Given the description of an element on the screen output the (x, y) to click on. 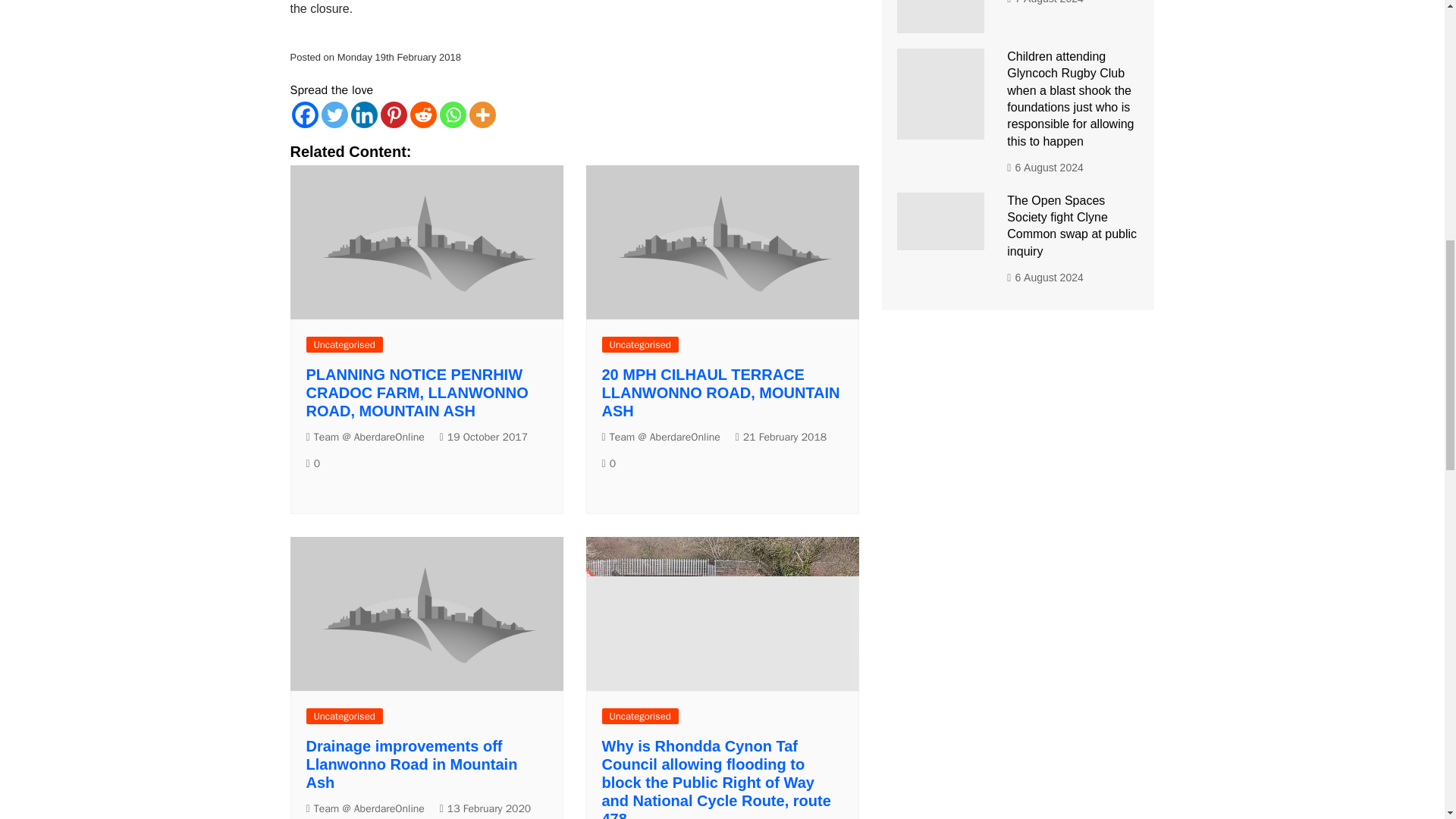
19 October 2017 (483, 437)
Twitter (334, 114)
Facebook (304, 114)
Uncategorised (343, 344)
Pinterest (393, 114)
More (481, 114)
Whatsapp (452, 114)
Linkedin (363, 114)
Uncategorised (640, 344)
Reddit (422, 114)
